Given the description of an element on the screen output the (x, y) to click on. 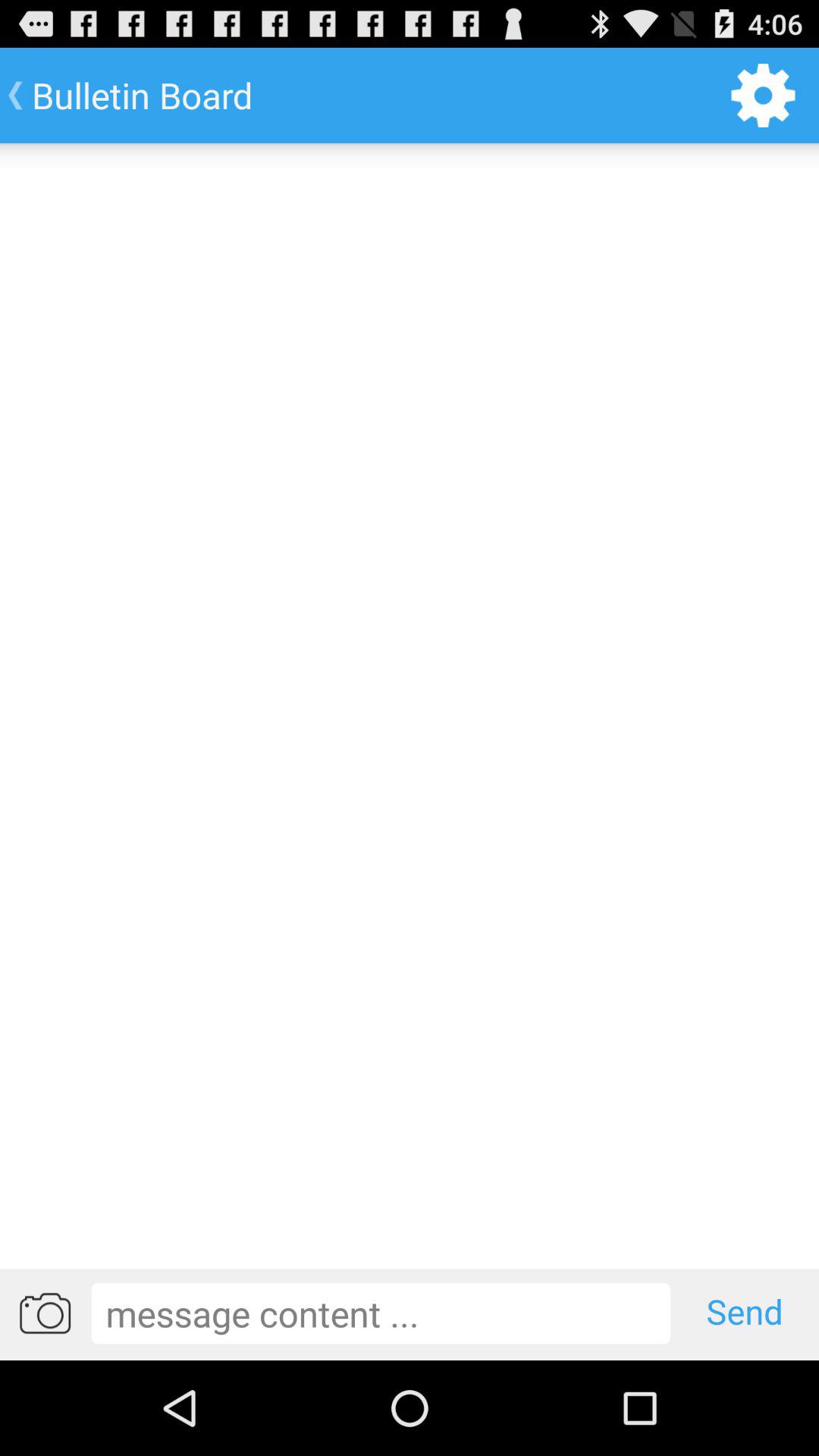
tap app at the bottom right corner (744, 1312)
